Given the description of an element on the screen output the (x, y) to click on. 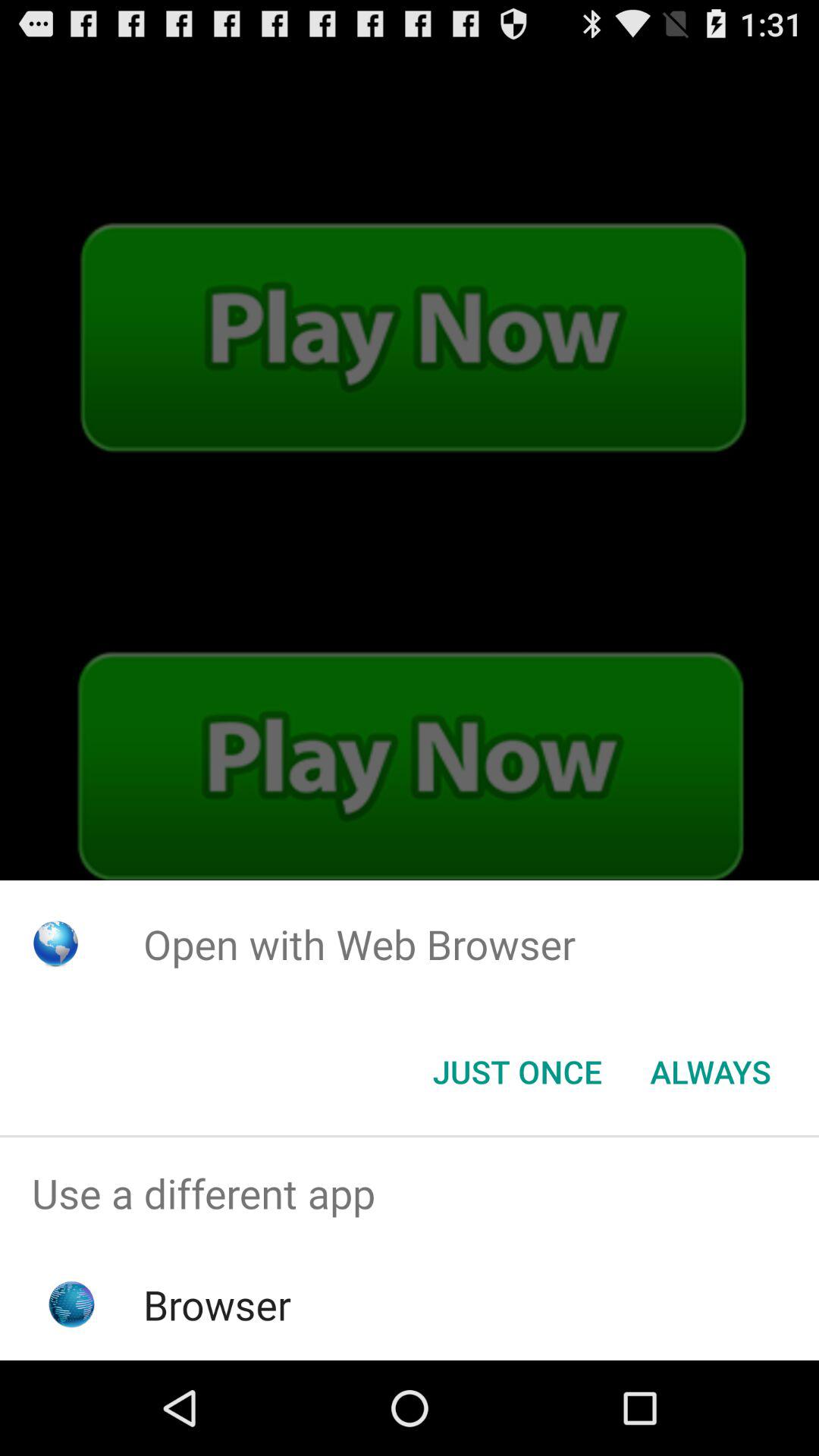
jump until the just once button (517, 1071)
